Given the description of an element on the screen output the (x, y) to click on. 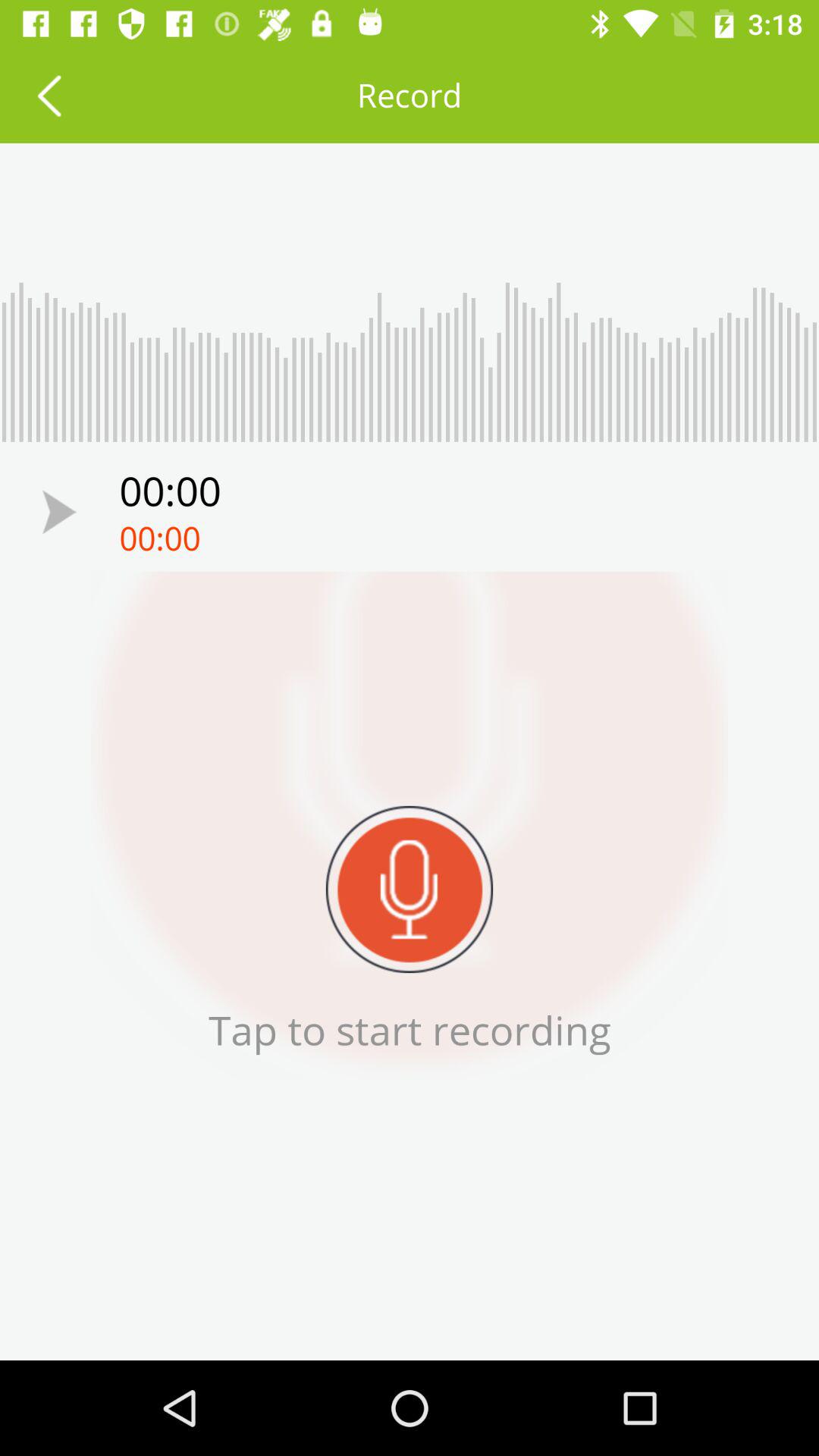
play button (59, 511)
